Given the description of an element on the screen output the (x, y) to click on. 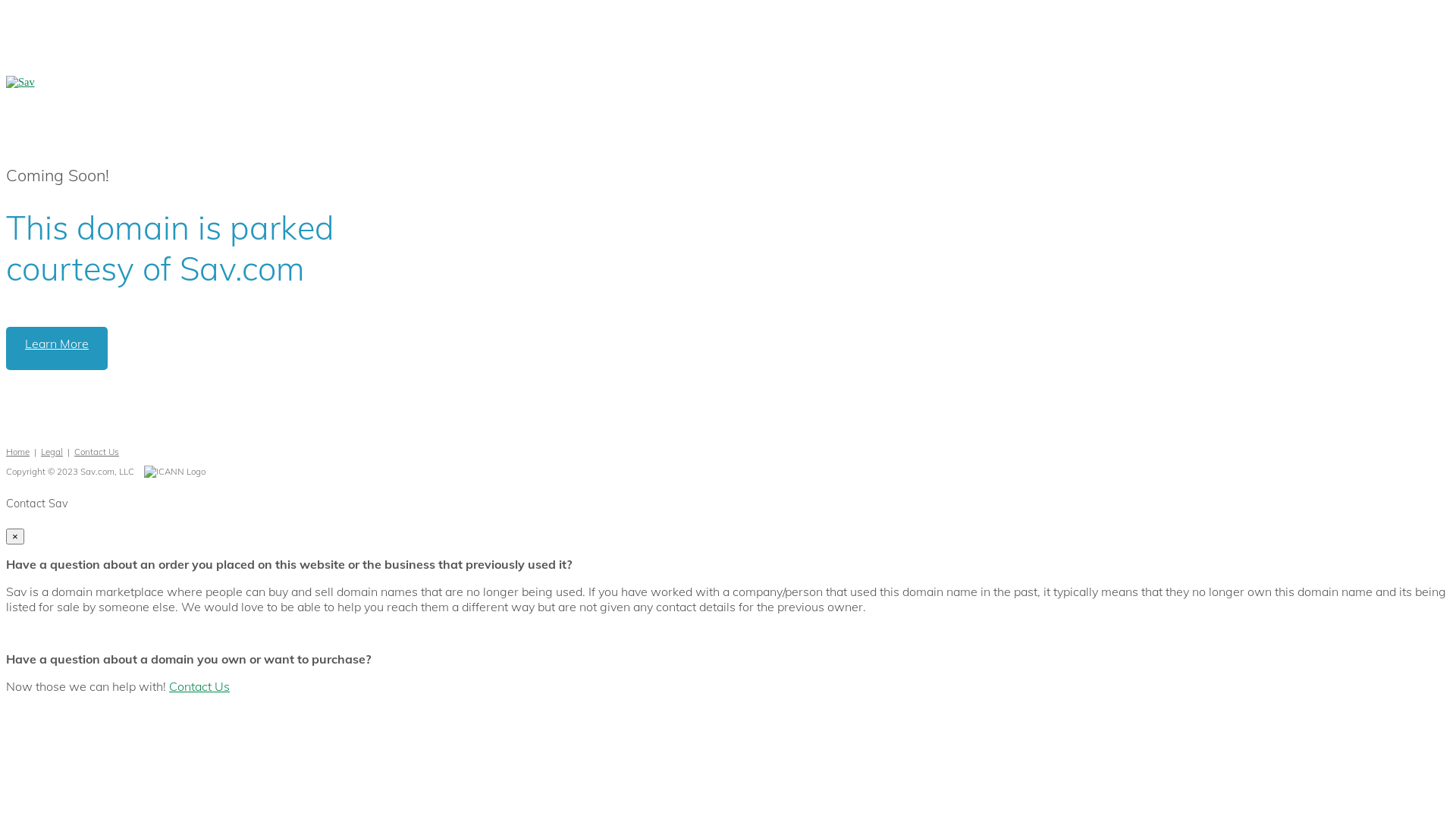
Legal Element type: text (51, 451)
Contact Us Element type: text (96, 451)
Learn More Element type: text (56, 348)
Contact Us Element type: text (199, 685)
Home Element type: text (17, 451)
